Given the description of an element on the screen output the (x, y) to click on. 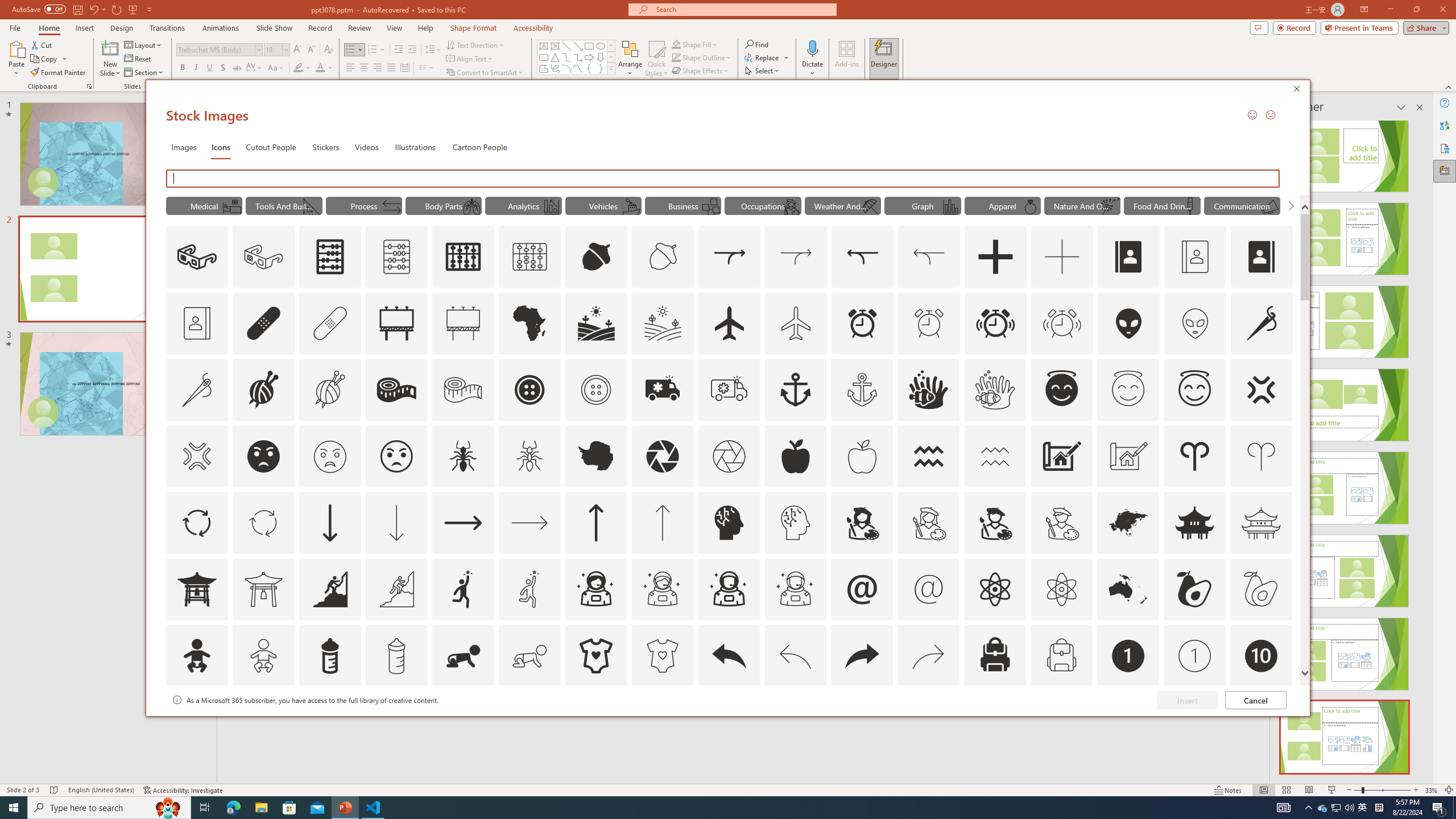
Send a Frown (1269, 114)
AutomationID: Icons_BarChart_LTR_M (950, 206)
AutomationID: Icons_ArtificialIntelligence_M (795, 522)
"Vehicles" Icons. (603, 205)
